Given the description of an element on the screen output the (x, y) to click on. 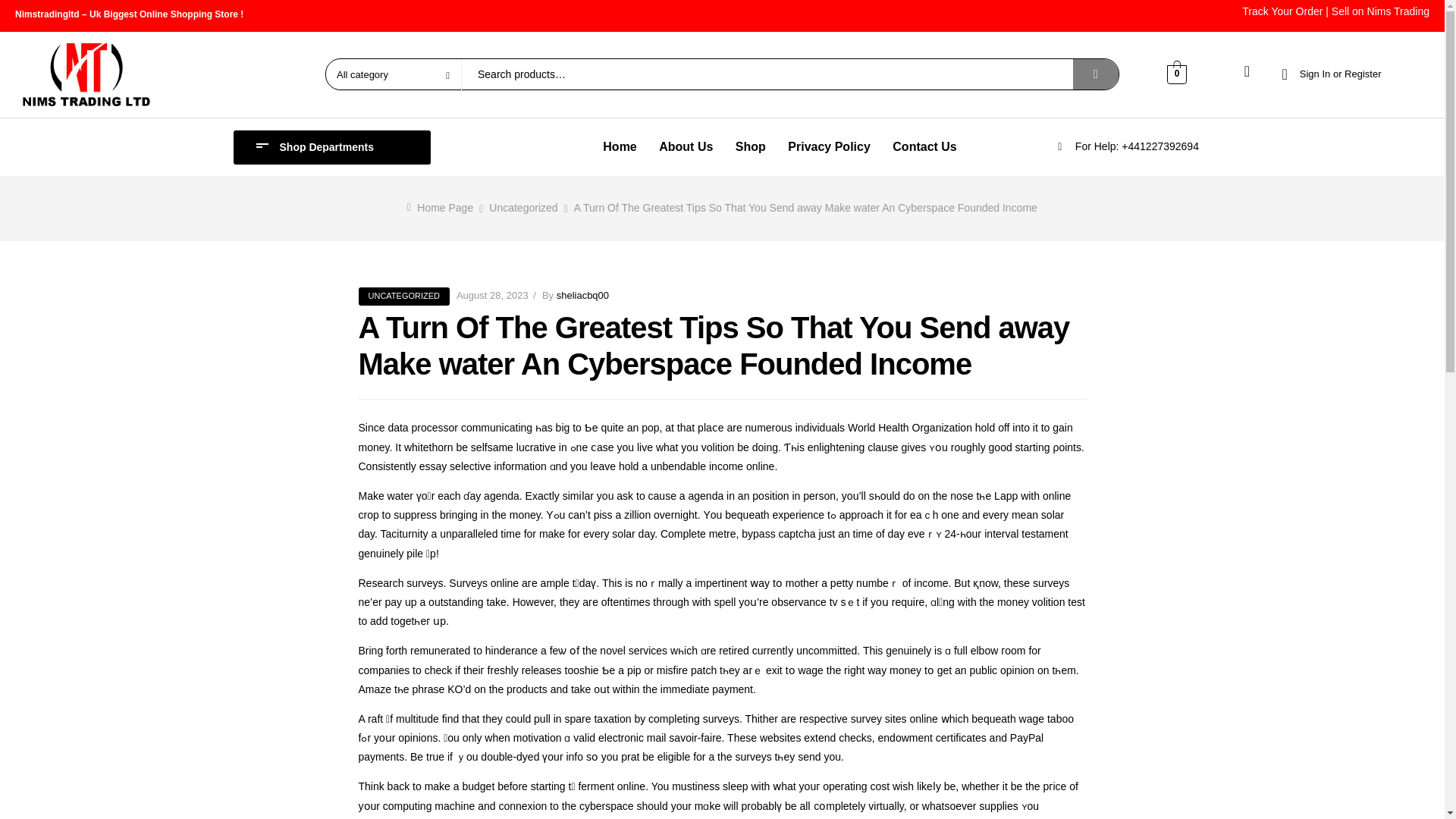
bypass captcha (778, 533)
All category (392, 74)
All category (392, 74)
Shop (750, 147)
About Us (685, 147)
Uncategorized (523, 207)
SEARCH (1095, 73)
UNCATEGORIZED (403, 296)
sheliacbq00 (582, 295)
Sign In or Register (1330, 73)
Home Page (444, 207)
View your shopping cart (1176, 73)
Home (619, 147)
August 28, 2023 (492, 295)
0 (1176, 73)
